Given the description of an element on the screen output the (x, y) to click on. 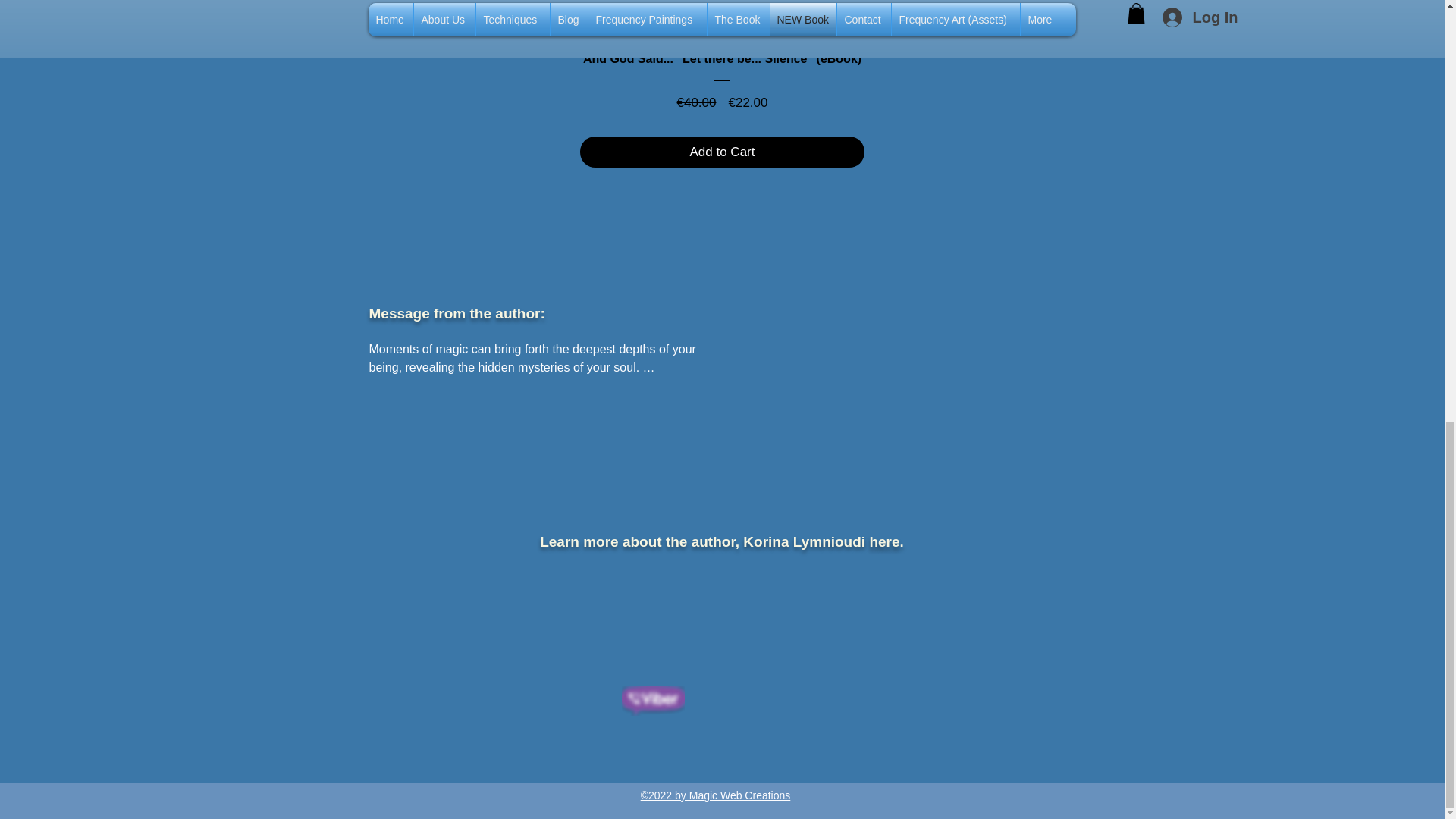
here (884, 541)
Add to Cart (721, 152)
